Given the description of an element on the screen output the (x, y) to click on. 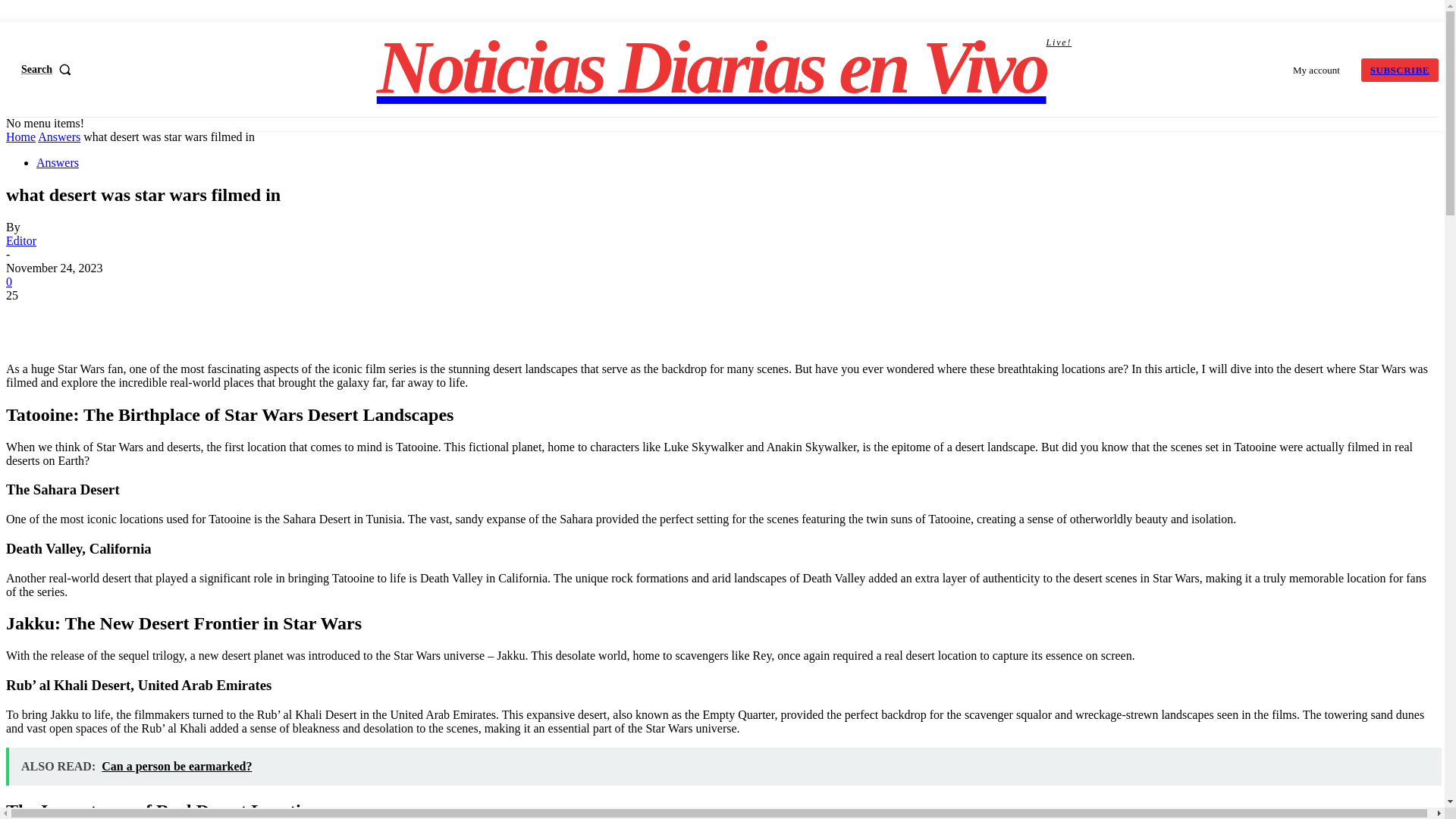
View all posts in Answers (58, 136)
Answers (57, 162)
SUBSCRIBE (723, 67)
Subscribe (1399, 69)
Home (1399, 69)
Search (19, 136)
Answers (49, 69)
Editor (58, 136)
ALSO READ:  Can a person be earmarked? (20, 240)
